Given the description of an element on the screen output the (x, y) to click on. 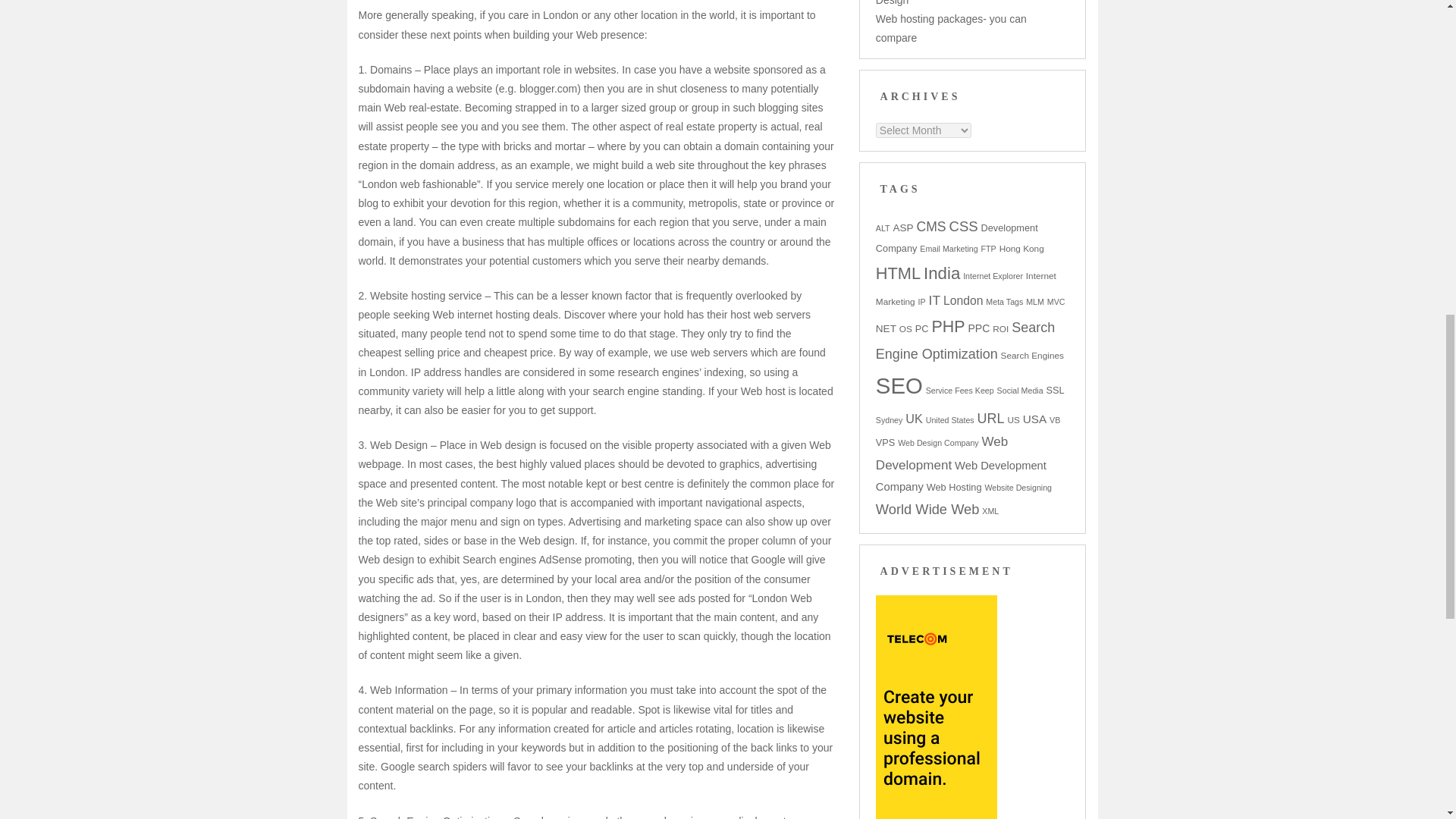
The Purpose Of E-commerce Web Design (957, 2)
Web hosting packages- you can compare (951, 28)
